Given the description of an element on the screen output the (x, y) to click on. 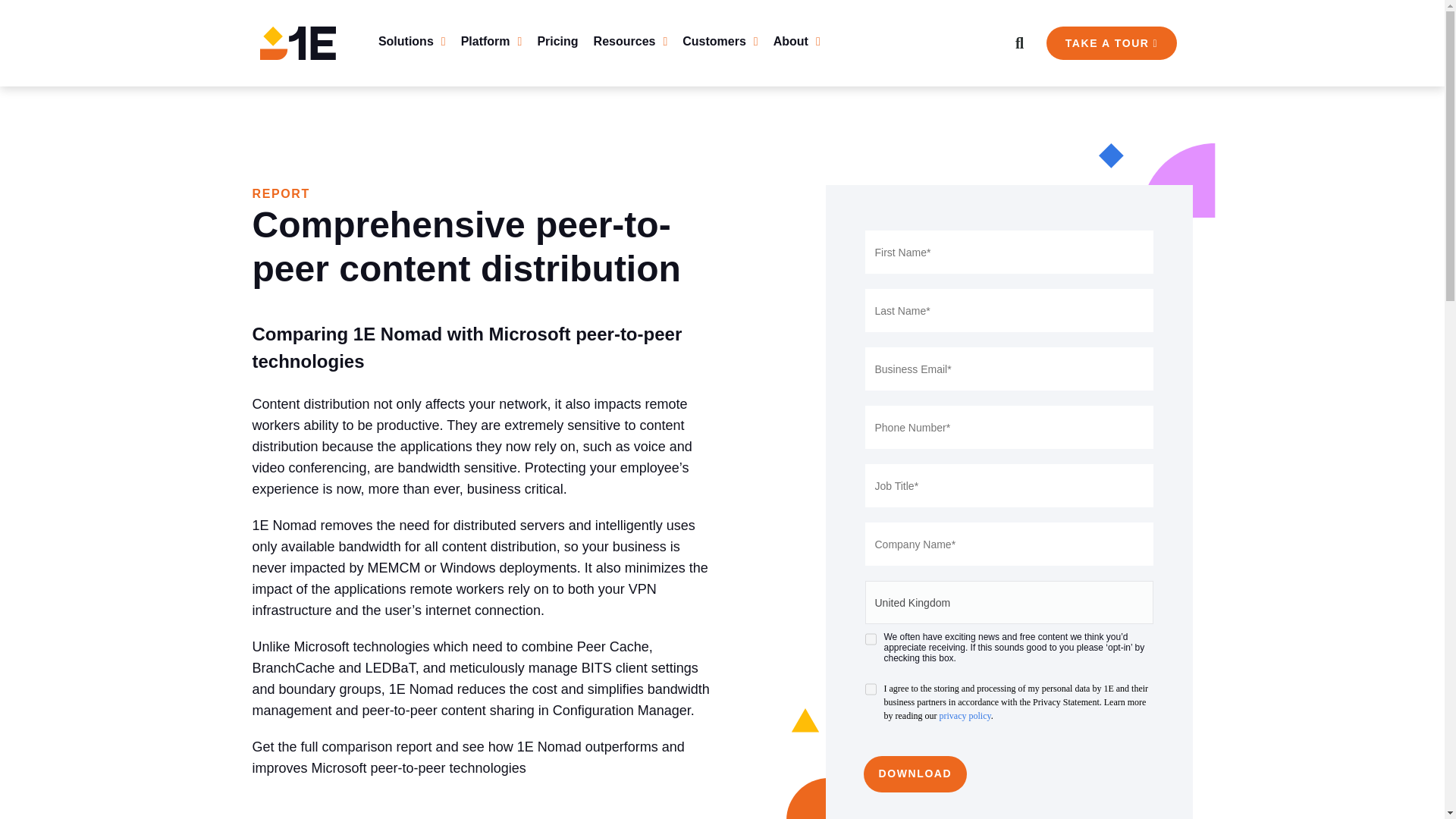
1E Logo (296, 42)
Download (914, 773)
